Given the description of an element on the screen output the (x, y) to click on. 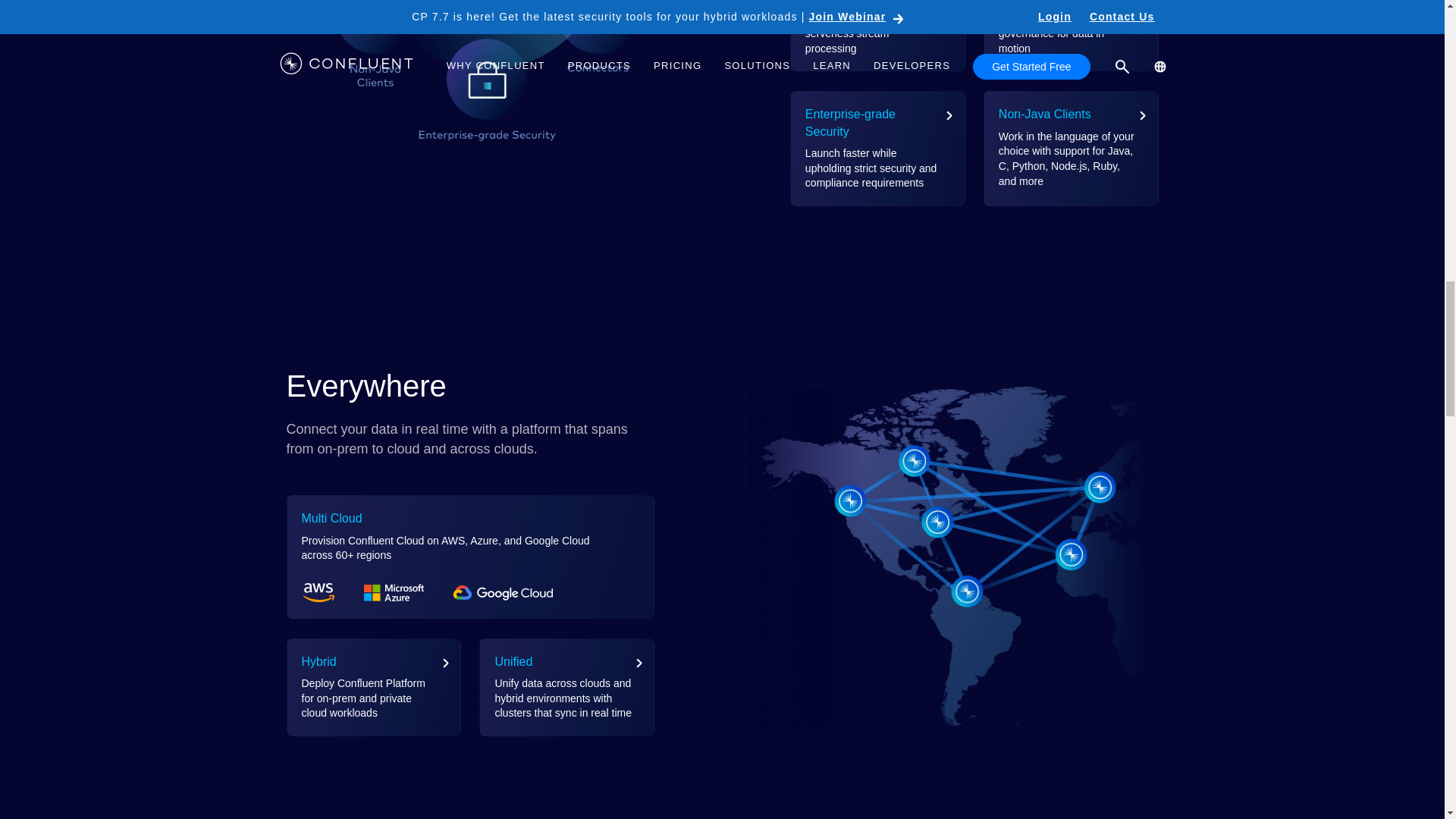
AWS (318, 592)
GCP (502, 592)
Azure (393, 592)
